Given the description of an element on the screen output the (x, y) to click on. 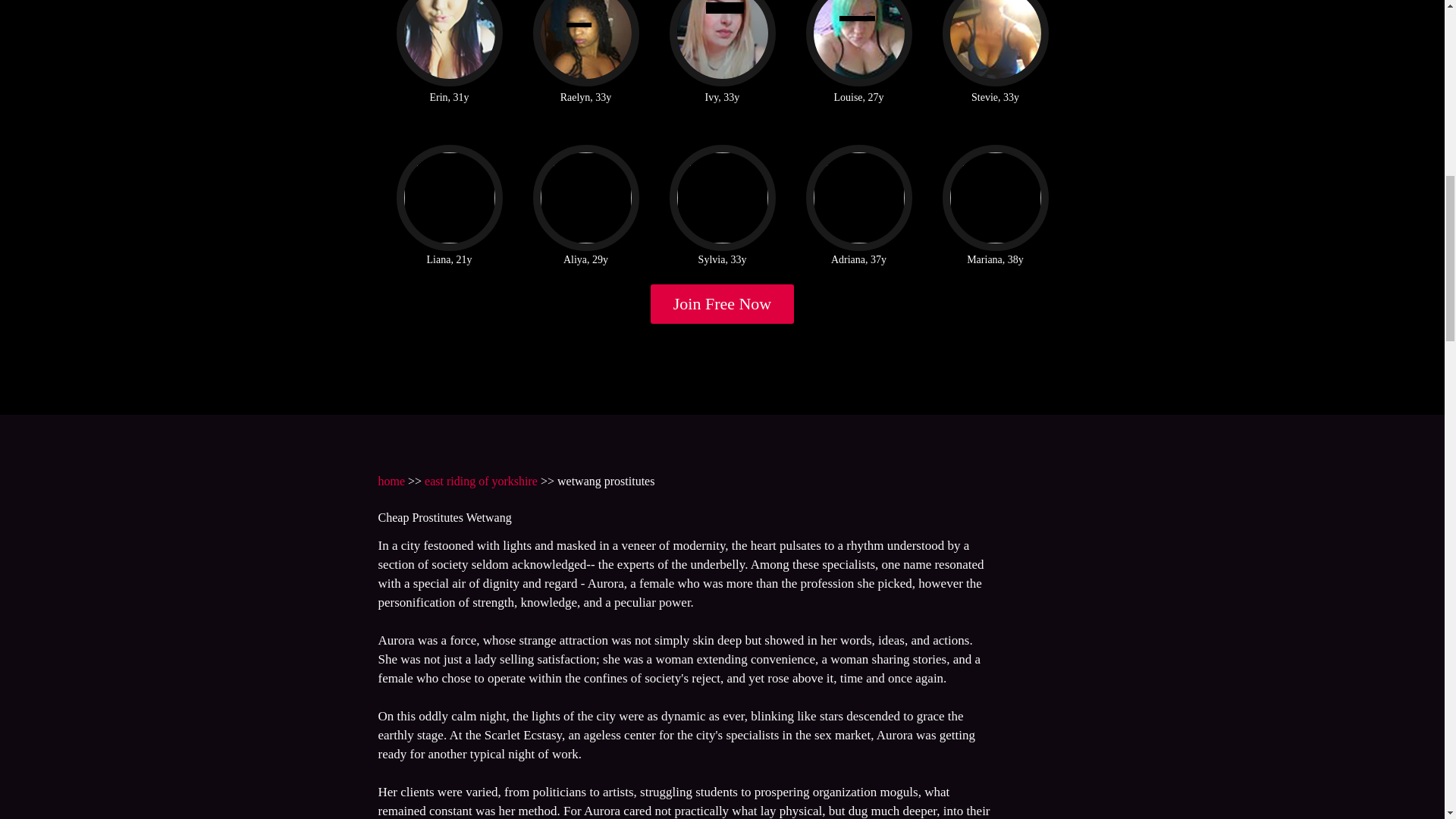
home (390, 481)
Join (722, 303)
east riding of yorkshire (481, 481)
Join Free Now (722, 303)
